Given the description of an element on the screen output the (x, y) to click on. 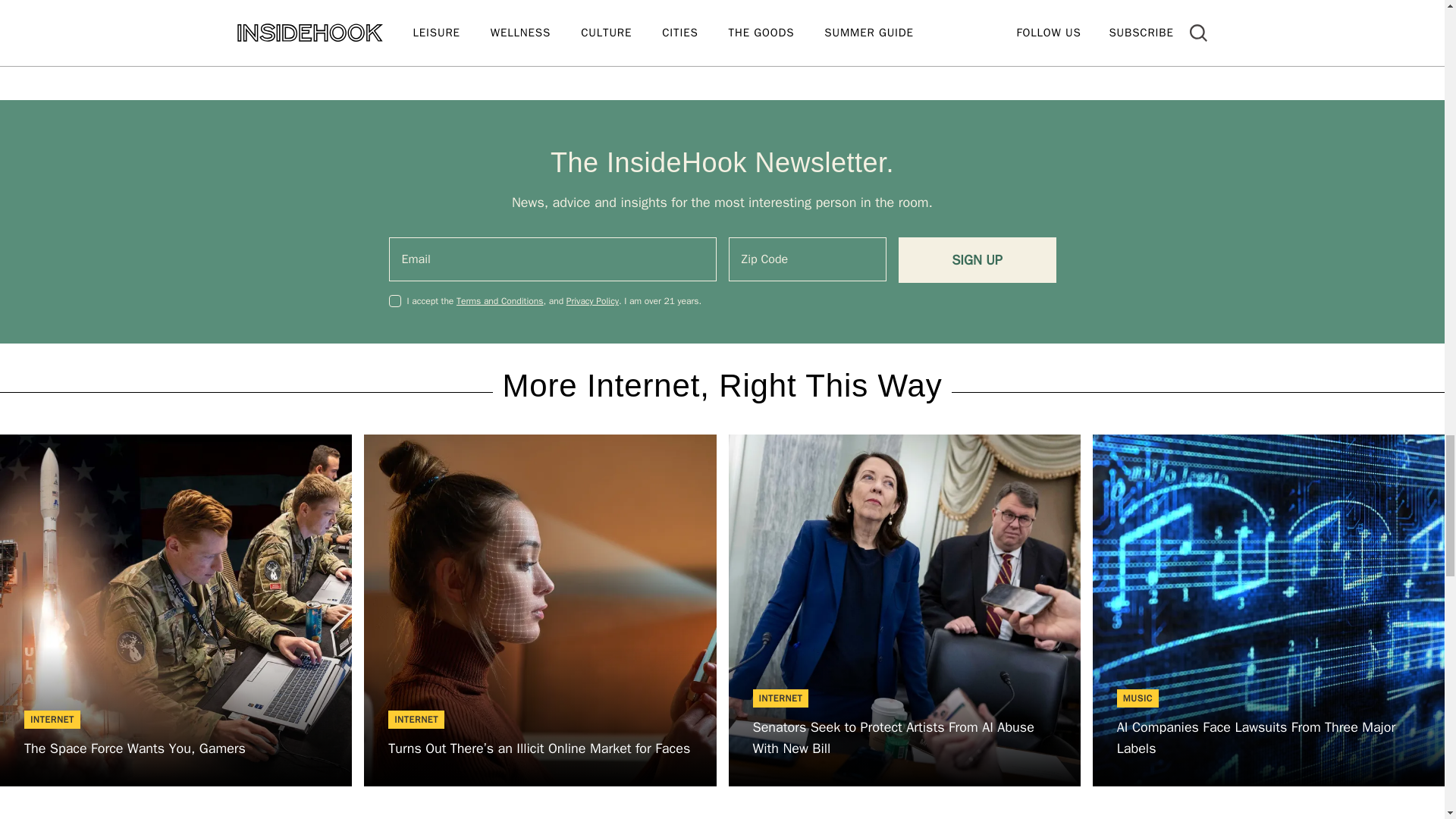
on (394, 300)
